Given the description of an element on the screen output the (x, y) to click on. 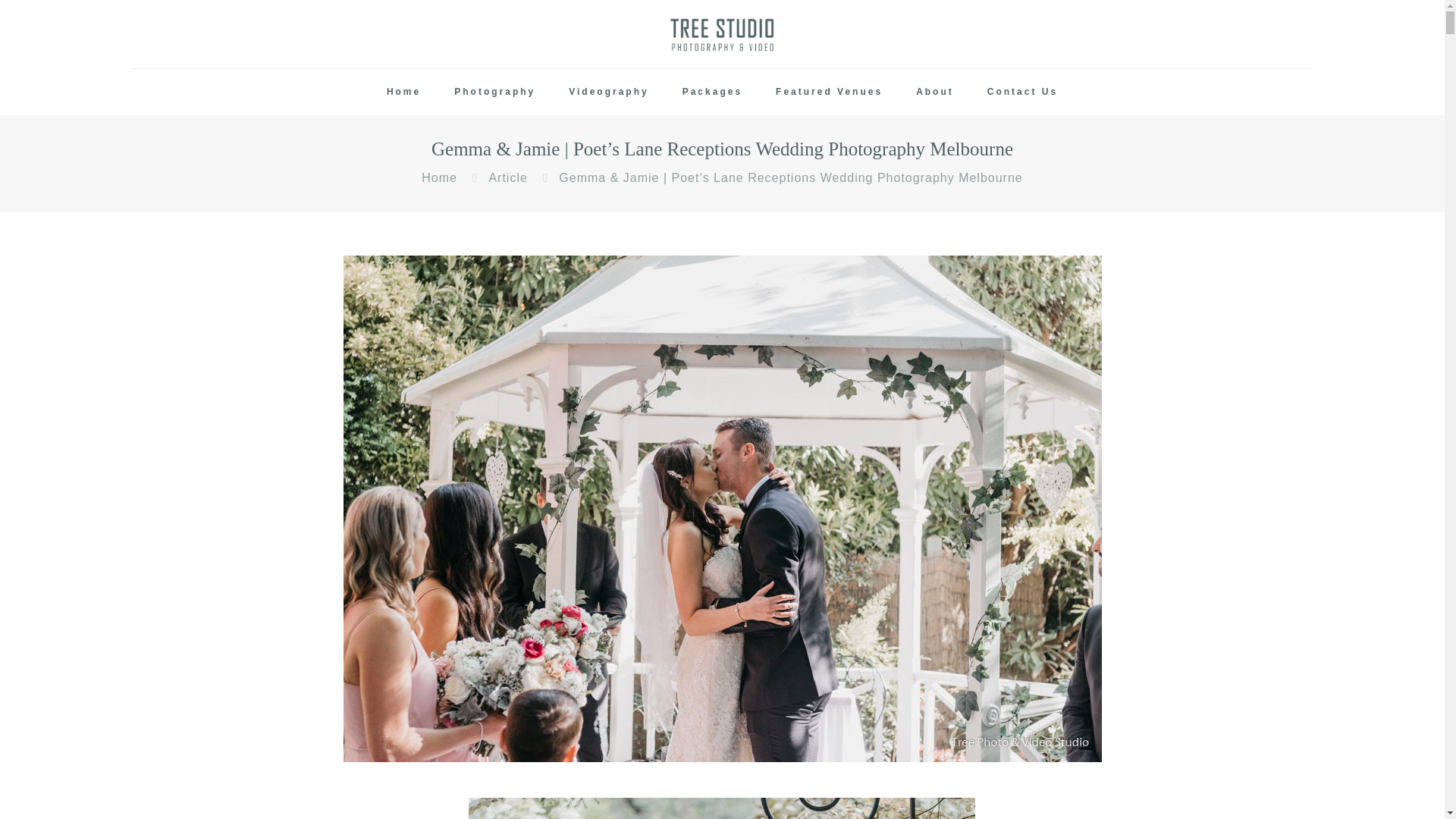
Tree Studio (722, 33)
Featured Venues (829, 91)
Videography (608, 91)
Packages (711, 91)
Videography (608, 91)
Photography (494, 91)
Home (439, 177)
Contact Us (1022, 91)
Packages (711, 91)
Article (507, 177)
